Given the description of an element on the screen output the (x, y) to click on. 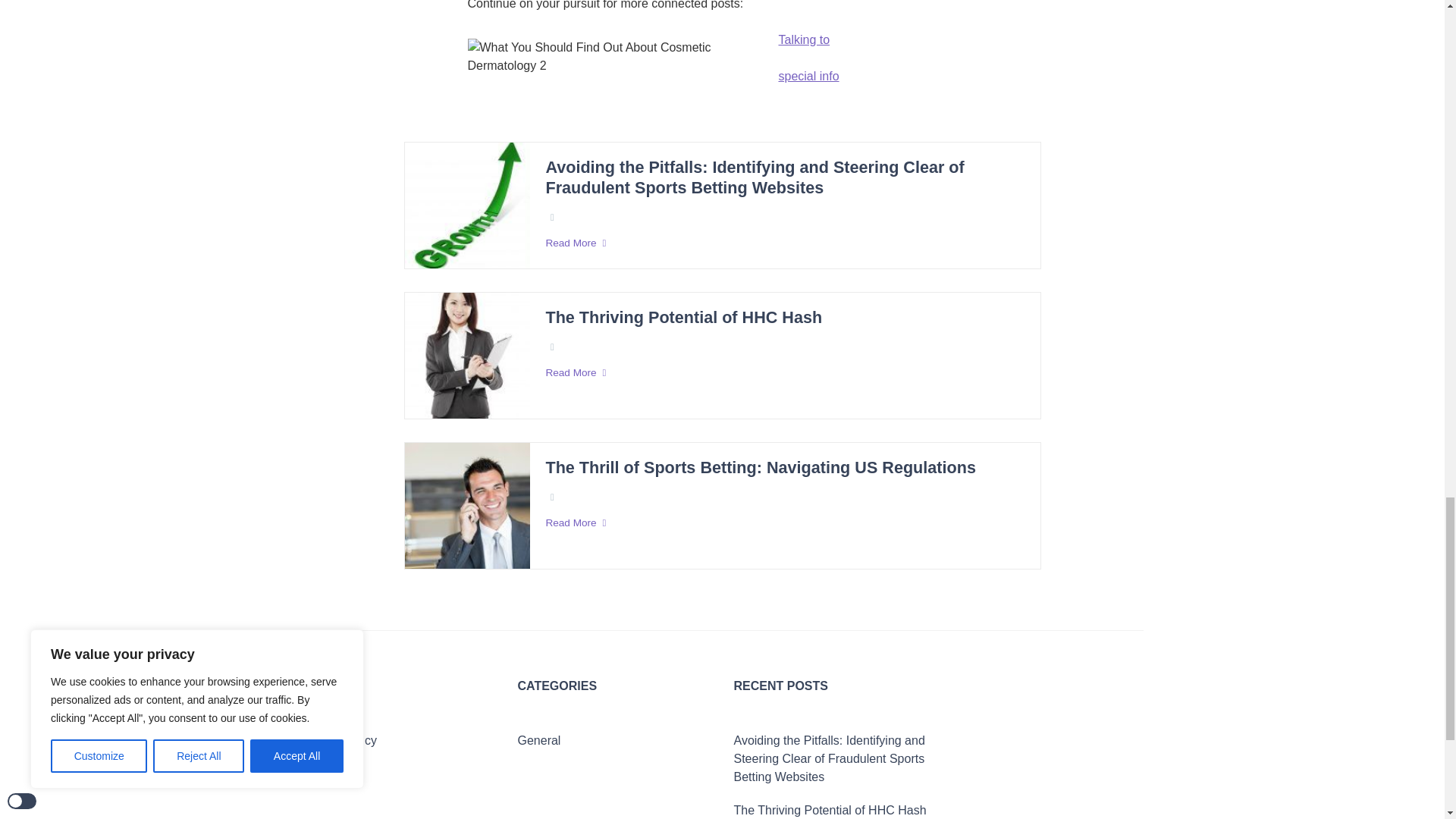
Talking to (803, 40)
Read More (784, 242)
The Thriving Potential of HHC Hash (683, 317)
Read More (784, 372)
special info (807, 76)
The Thrill of Sports Betting: Navigating US Regulations (759, 467)
